Given the description of an element on the screen output the (x, y) to click on. 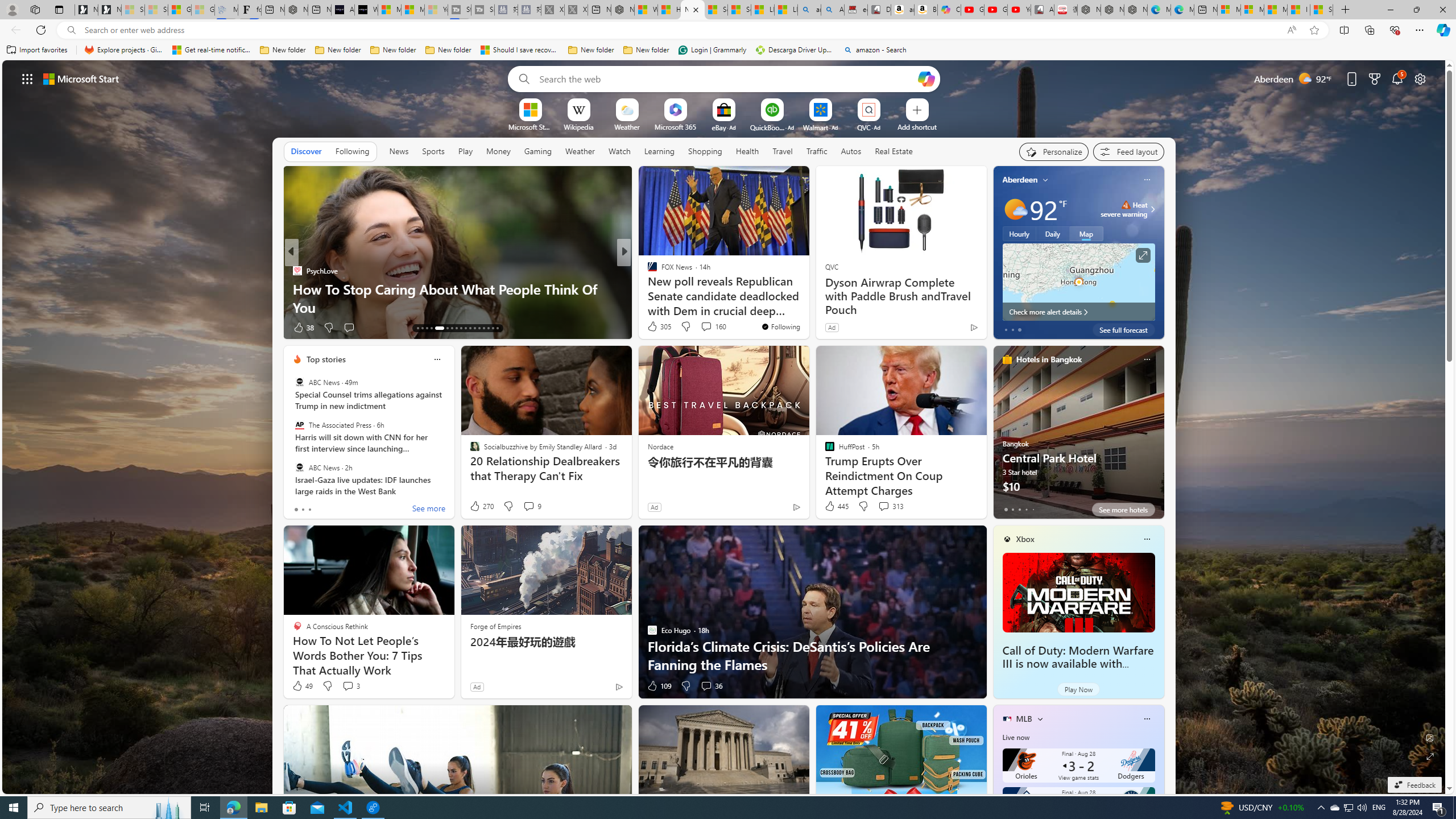
Reuters (647, 270)
View comments 3 Comment (350, 685)
3k Like (652, 327)
View comments 160 Comment (712, 326)
Aberdeen (1019, 179)
386 Like (654, 327)
